Given the description of an element on the screen output the (x, y) to click on. 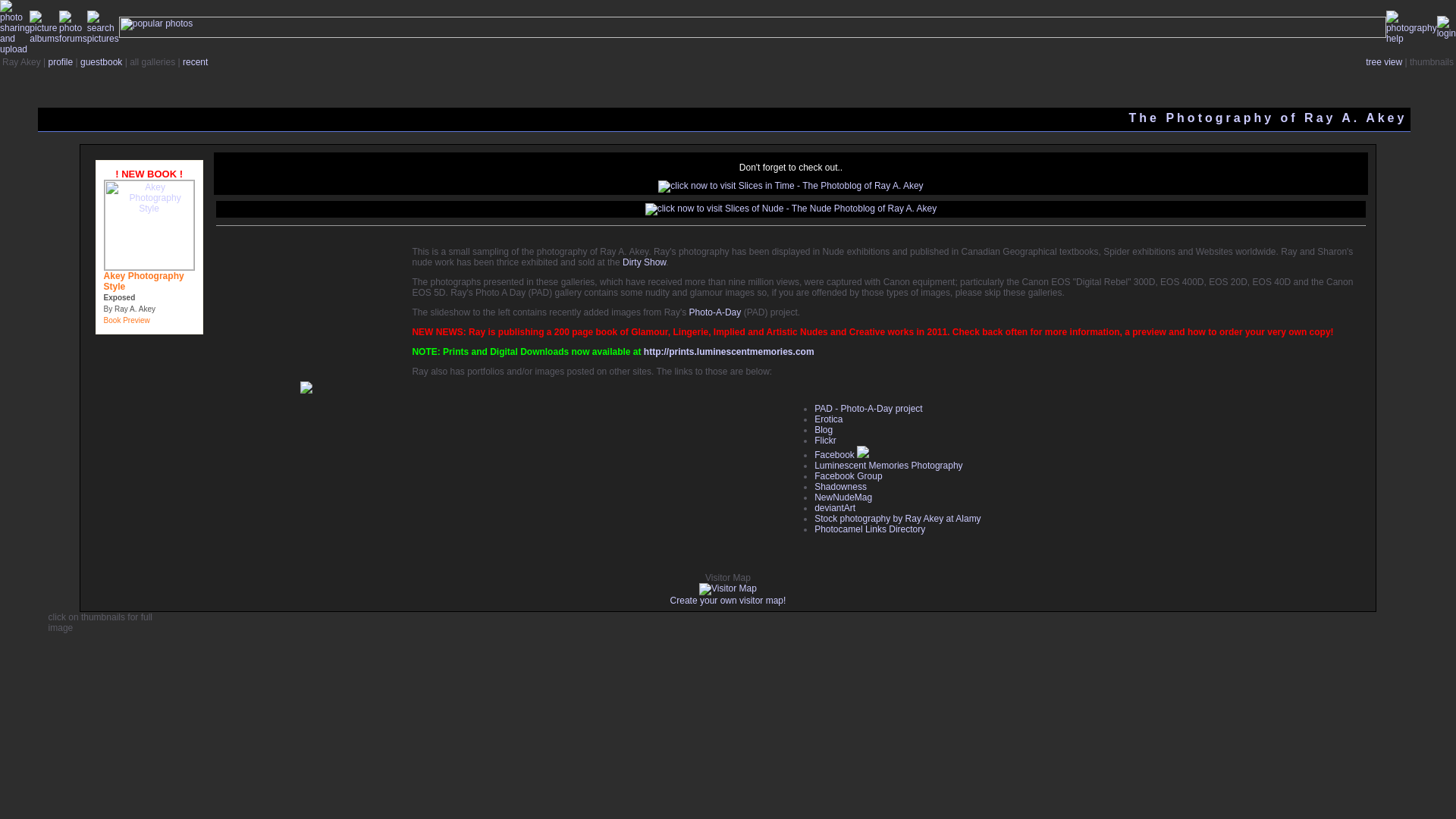
Stock photography by Ray Akey at Alamy (896, 518)
Blog (822, 429)
Luminescent Memories Photography (887, 465)
profile (60, 61)
photography discussion forums (73, 38)
NewNudeMag (842, 497)
click to visit Ray's Facebook (863, 454)
guestbook (101, 61)
Photo-A-Day (714, 312)
give me some help (1411, 38)
